Given the description of an element on the screen output the (x, y) to click on. 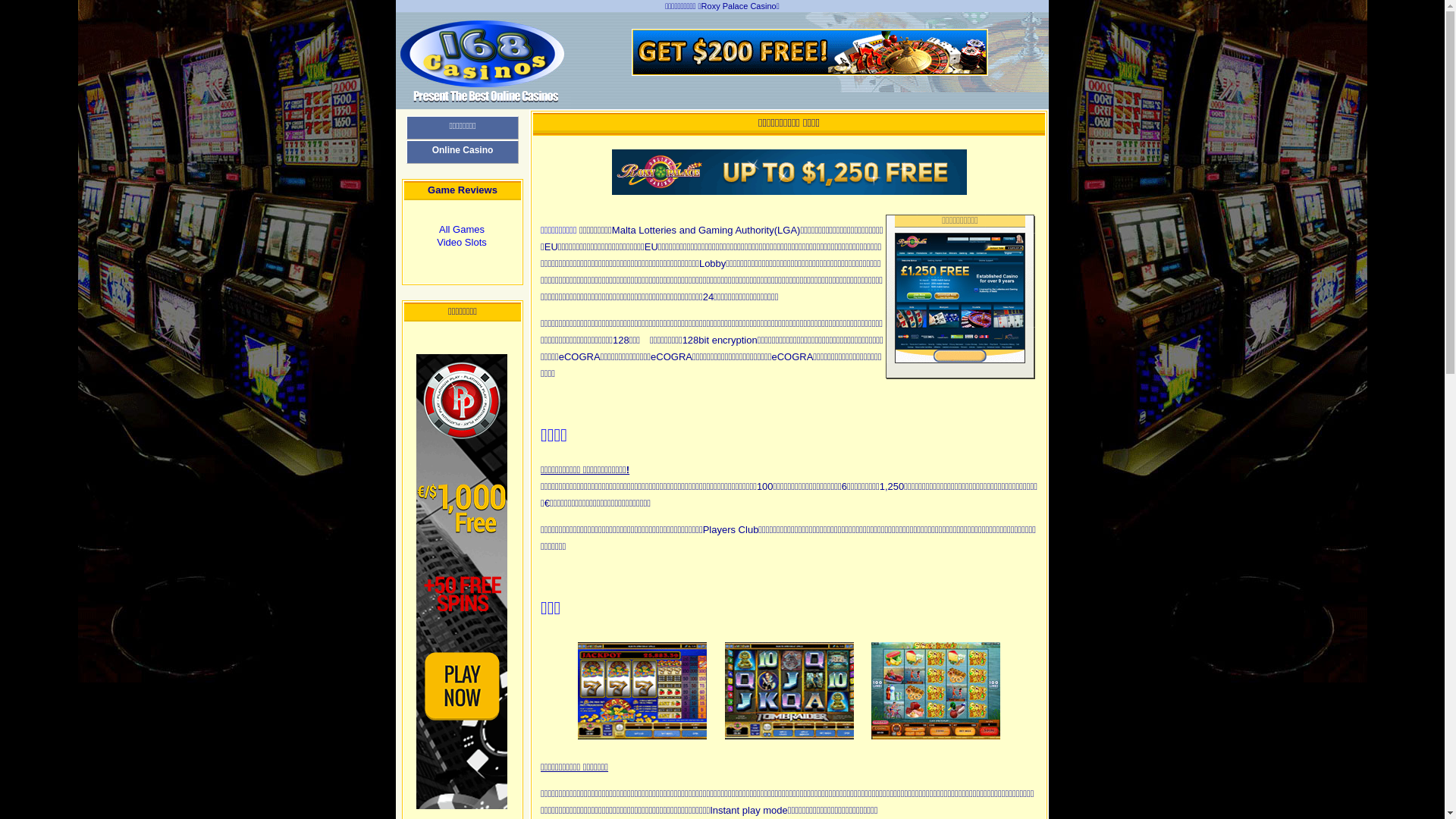
All Games Element type: text (461, 229)
Video Slots Element type: text (461, 241)
online casino gambling Element type: hover (483, 88)
Online Casino Element type: text (462, 151)
